Given the description of an element on the screen output the (x, y) to click on. 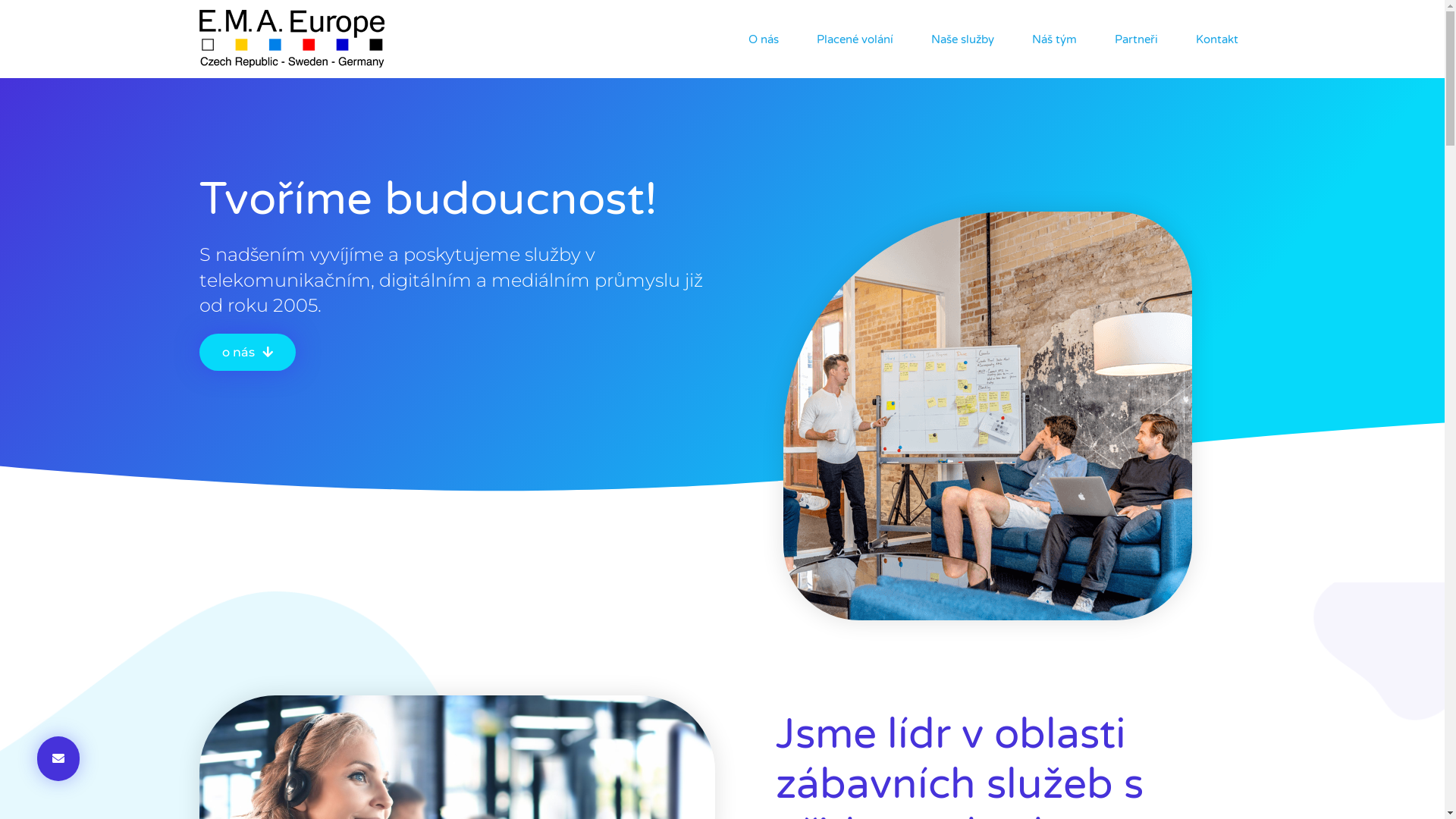
Kontakt Element type: text (1216, 39)
